Given the description of an element on the screen output the (x, y) to click on. 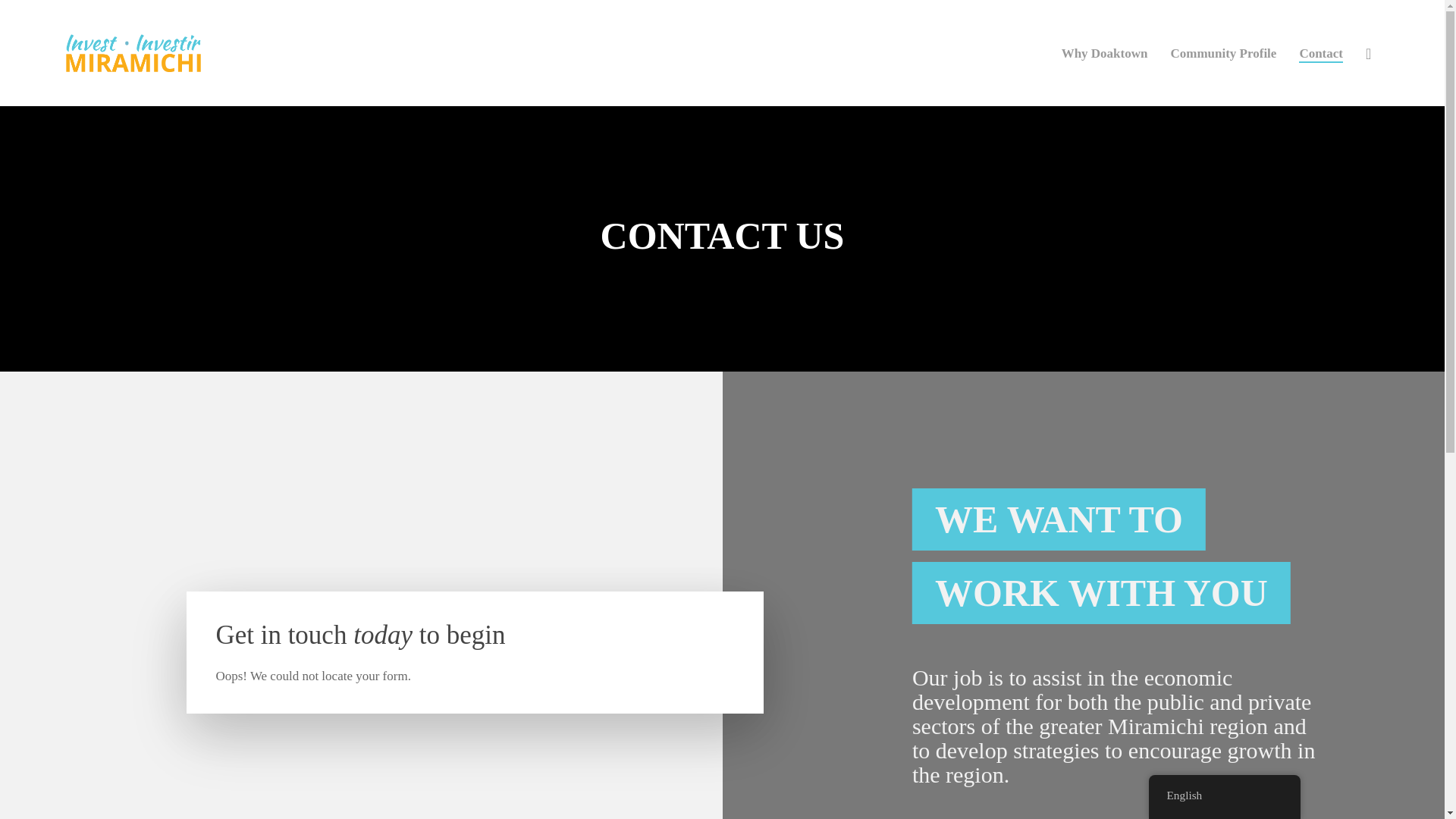
English (1224, 794)
Why Doaktown (1104, 52)
Community Profile (1223, 52)
Contact (1320, 52)
